Given the description of an element on the screen output the (x, y) to click on. 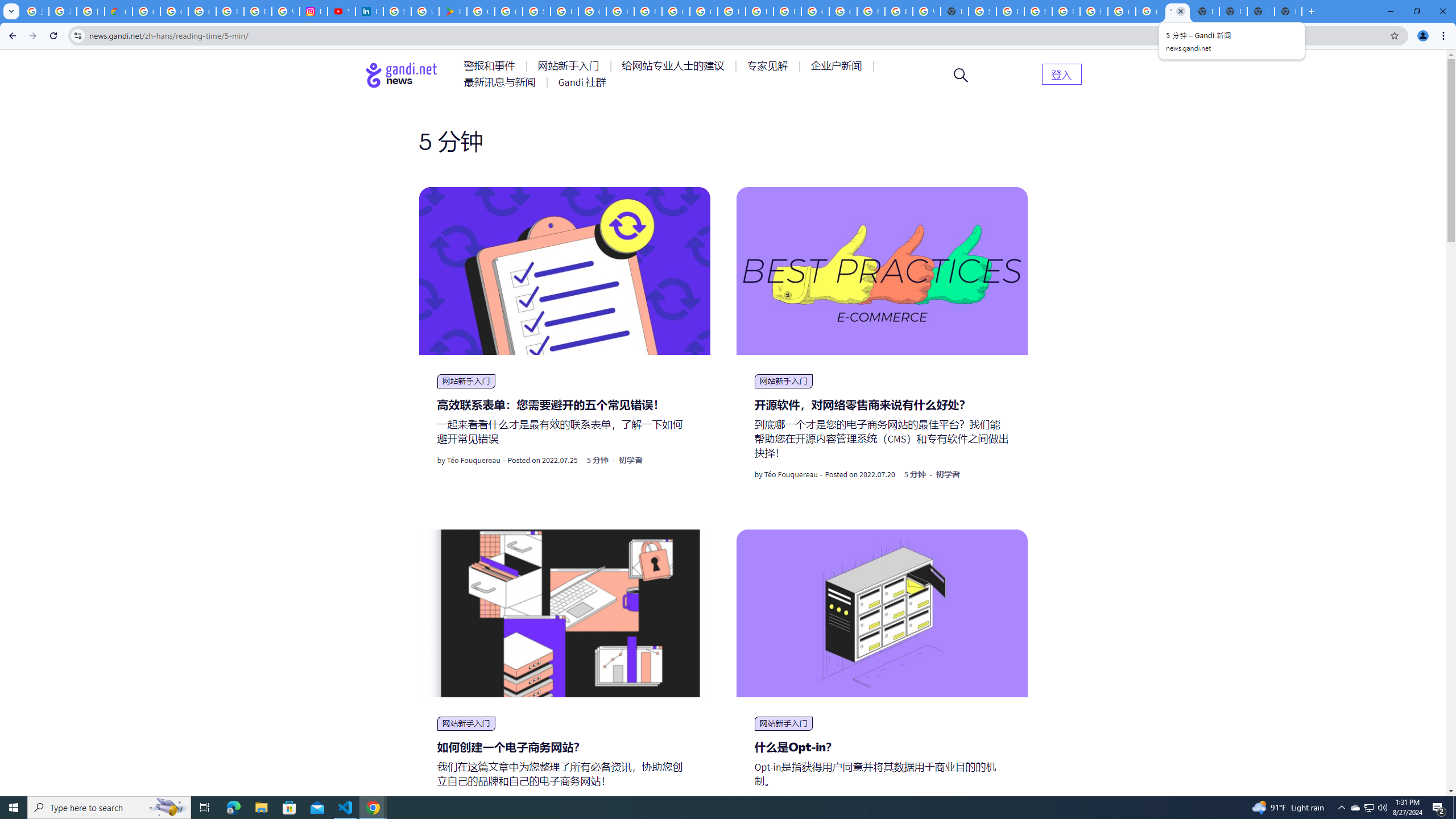
New Tab (955, 11)
Go to home (401, 75)
AutomationID: menu-item-77764 (769, 65)
